Given the description of an element on the screen output the (x, y) to click on. 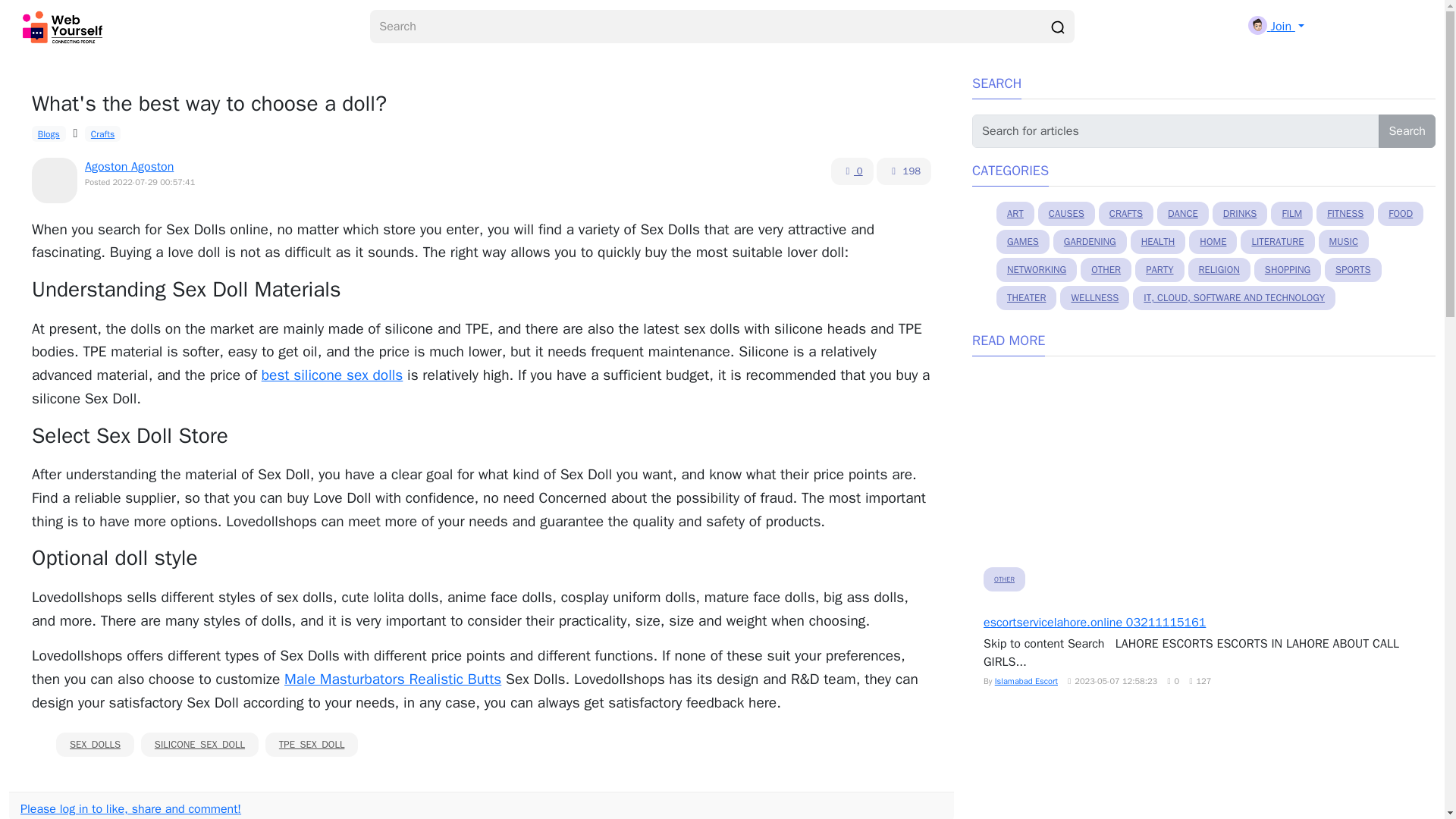
CAUSES (1066, 213)
Search (1406, 131)
best silicone sex dolls (332, 375)
ART (1014, 213)
FITNESS (1345, 213)
DRINKS (1240, 213)
DANCE (1182, 213)
Agoston Agoston (128, 166)
FILM (1292, 213)
